Given the description of an element on the screen output the (x, y) to click on. 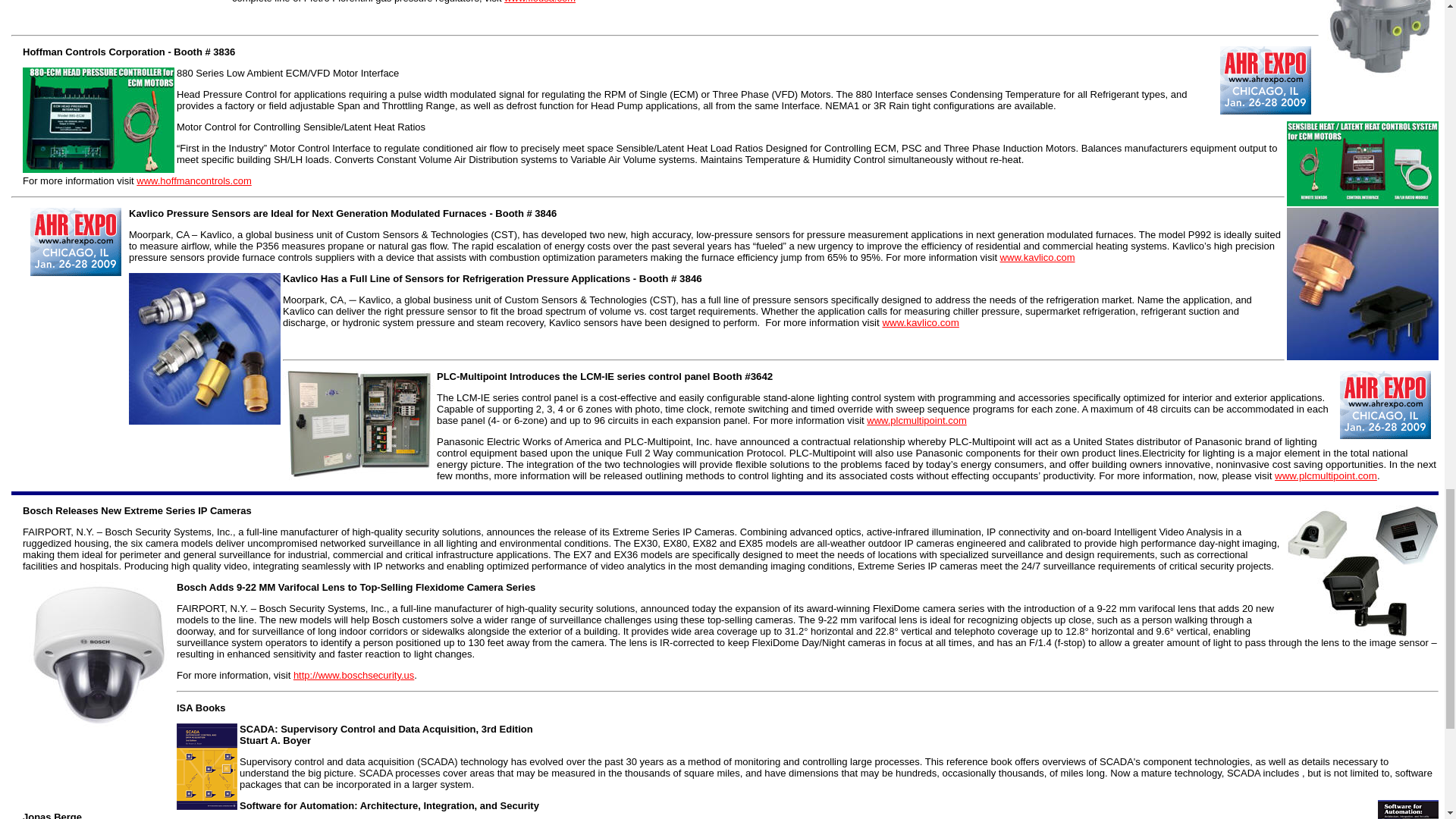
www.kavlico.com (920, 322)
www.fiousa.com (539, 2)
www.kavlico.com (1037, 256)
www.hoffmancontrols.com (193, 180)
